Given the description of an element on the screen output the (x, y) to click on. 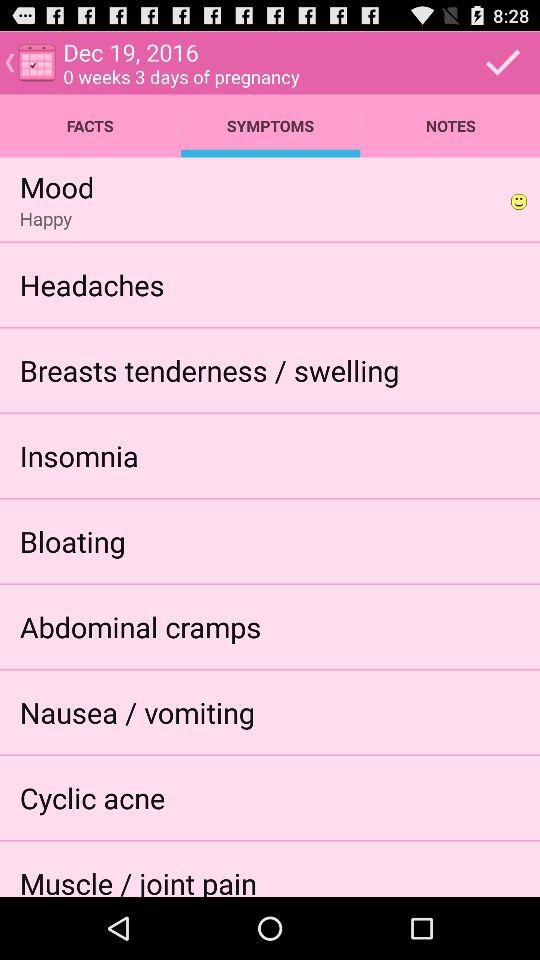
select the tick mark which is on the top right corner of the page (503, 63)
